Given the description of an element on the screen output the (x, y) to click on. 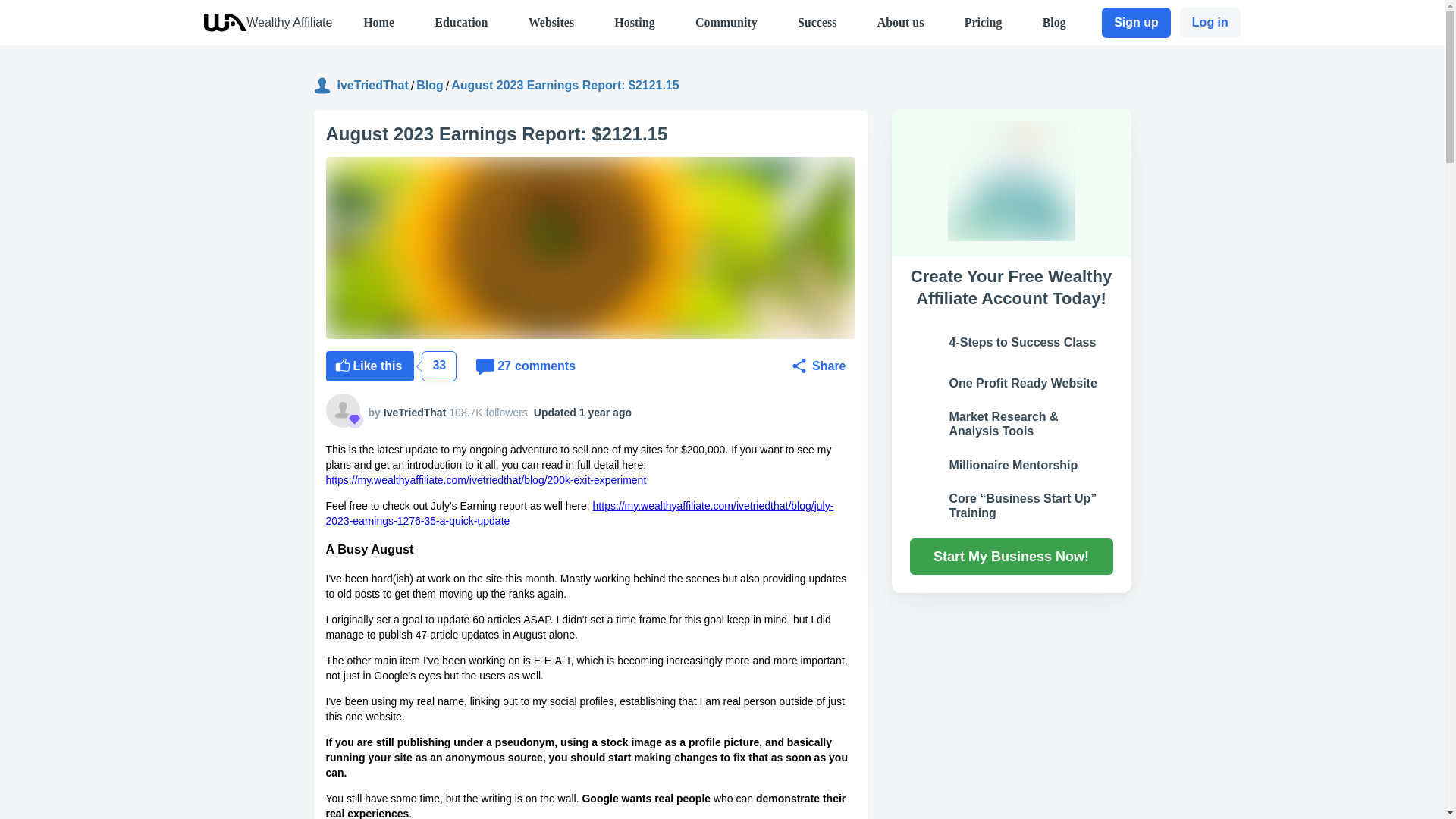
Fri, 01 Sep 2023 17:06:26 GMT (605, 412)
Community (527, 366)
Hosting (726, 21)
Blog (633, 21)
Pricing (430, 84)
Success (983, 21)
Wealthy Affiliate (817, 21)
Log in (288, 21)
Home (1209, 22)
